Given the description of an element on the screen output the (x, y) to click on. 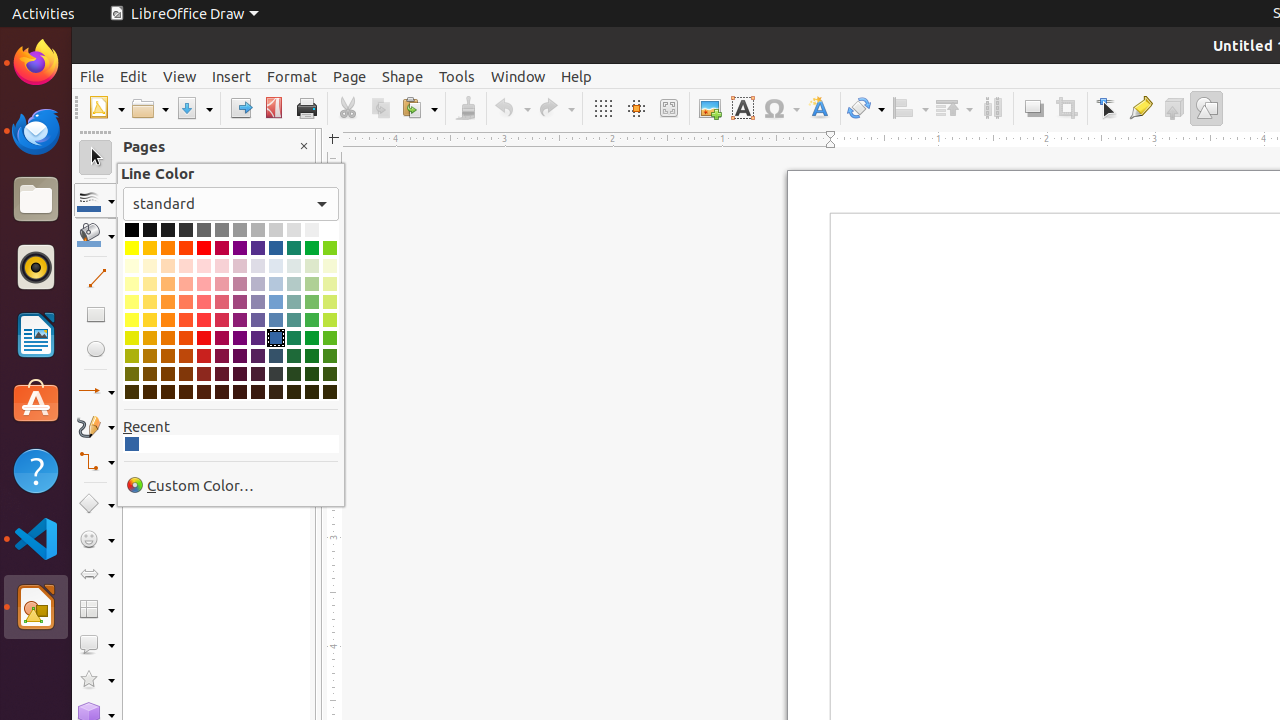
Glue Points Element type: push-button (1140, 108)
Save Element type: push-button (194, 108)
Callout Shapes Element type: push-button (96, 644)
Teal Element type: list-item (294, 248)
Fontwork Style Element type: toggle-button (819, 108)
